Given the description of an element on the screen output the (x, y) to click on. 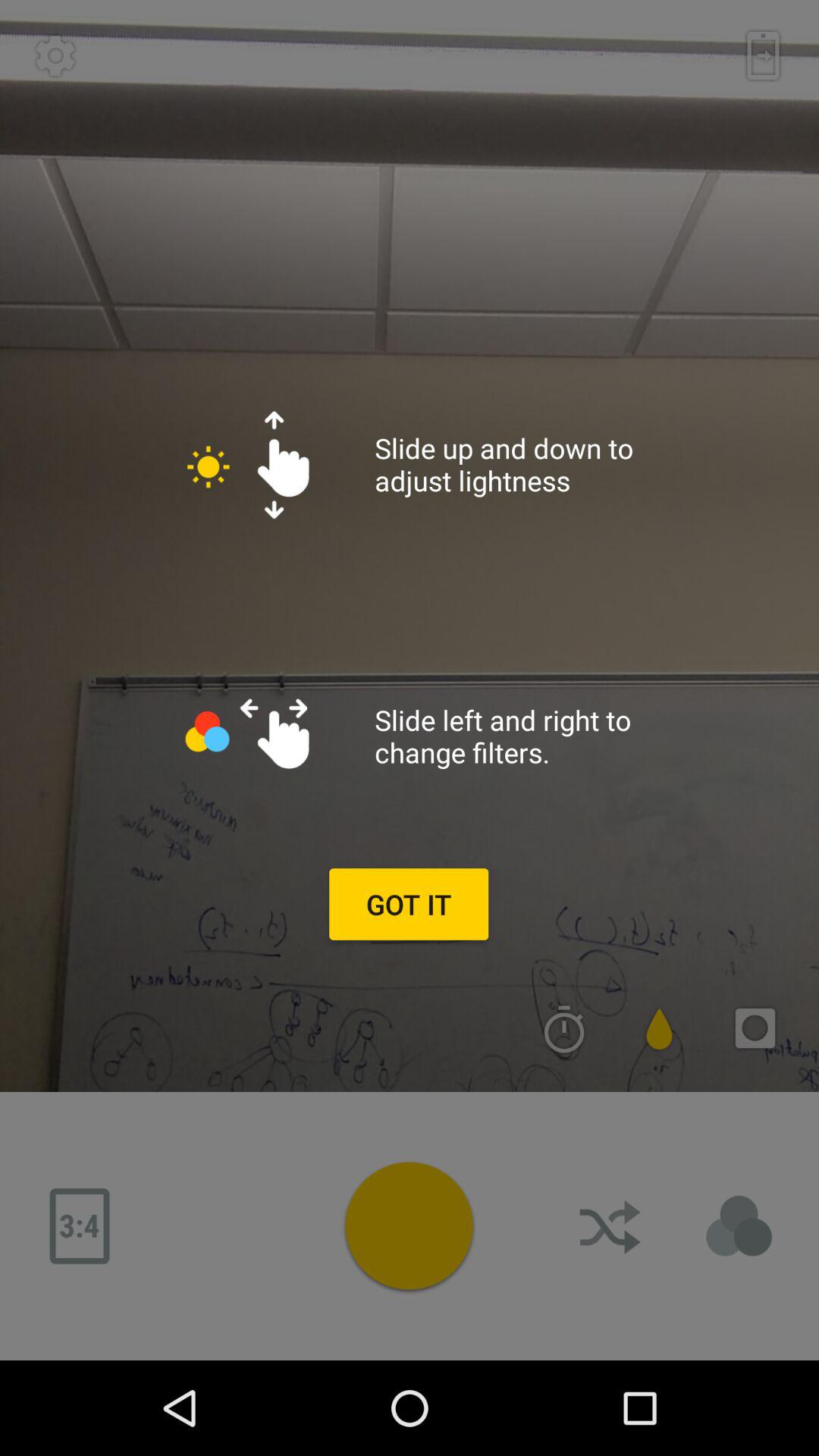
change filters (739, 1226)
